Given the description of an element on the screen output the (x, y) to click on. 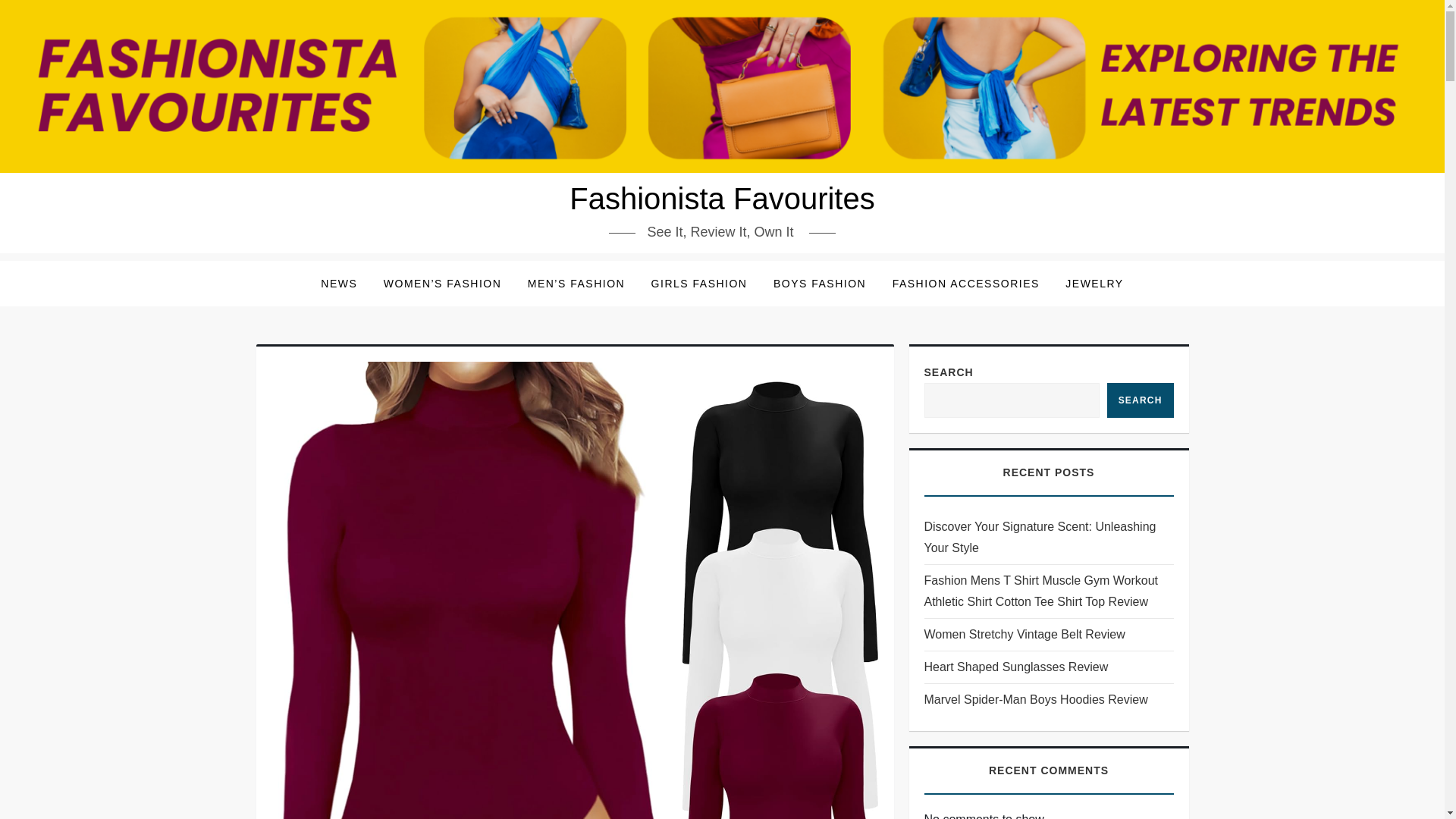
JEWELRY (1094, 283)
BOYS FASHION (819, 283)
NEWS (338, 283)
GIRLS FASHION (699, 283)
Fashionista Favourites (722, 198)
FASHION ACCESSORIES (965, 283)
